Given the description of an element on the screen output the (x, y) to click on. 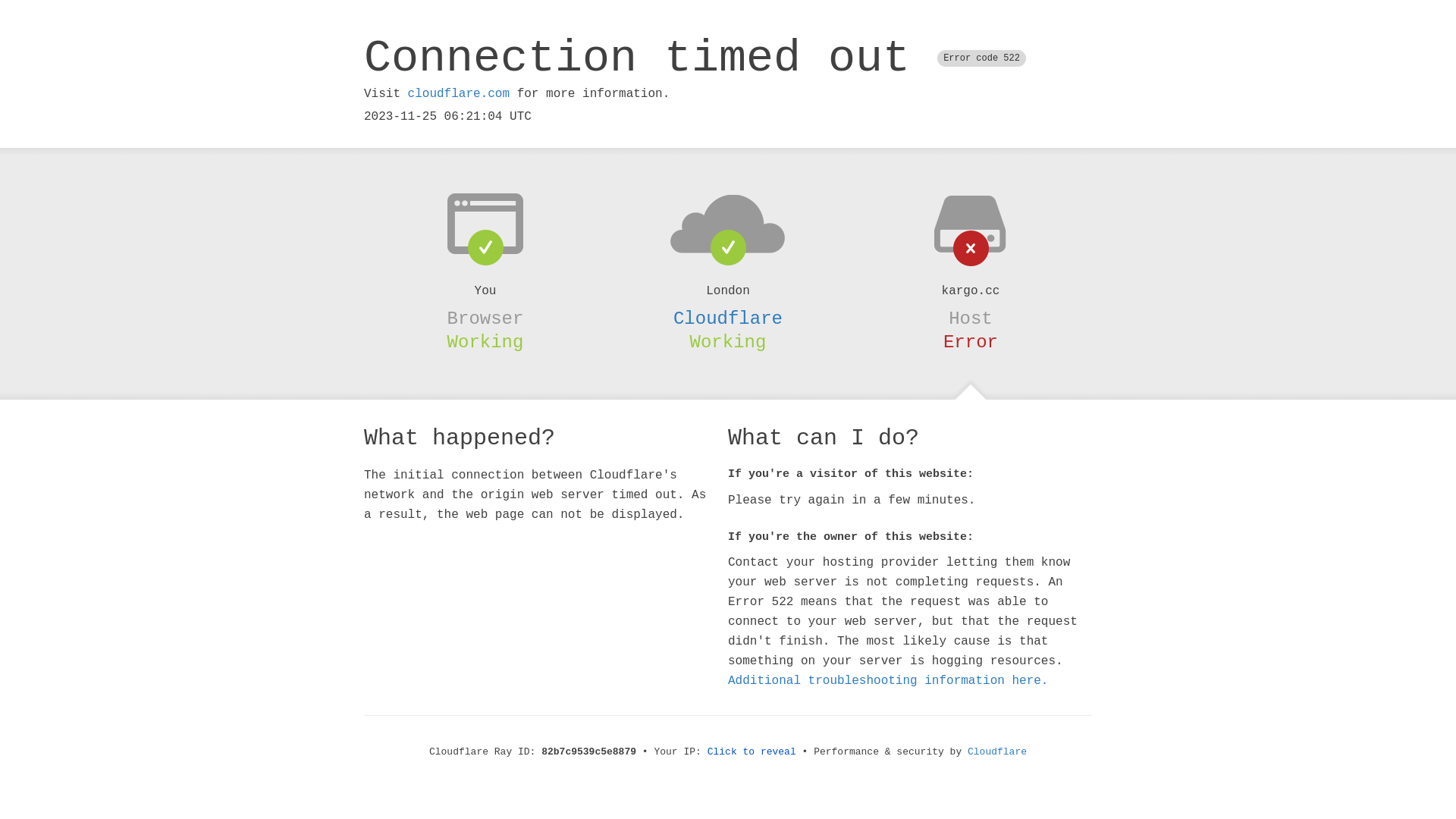
Additional troubleshooting information here. Element type: text (888, 680)
cloudflare.com Element type: text (458, 93)
Cloudflare Element type: text (996, 751)
Cloudflare Element type: text (727, 318)
Click to reveal Element type: text (751, 751)
